Given the description of an element on the screen output the (x, y) to click on. 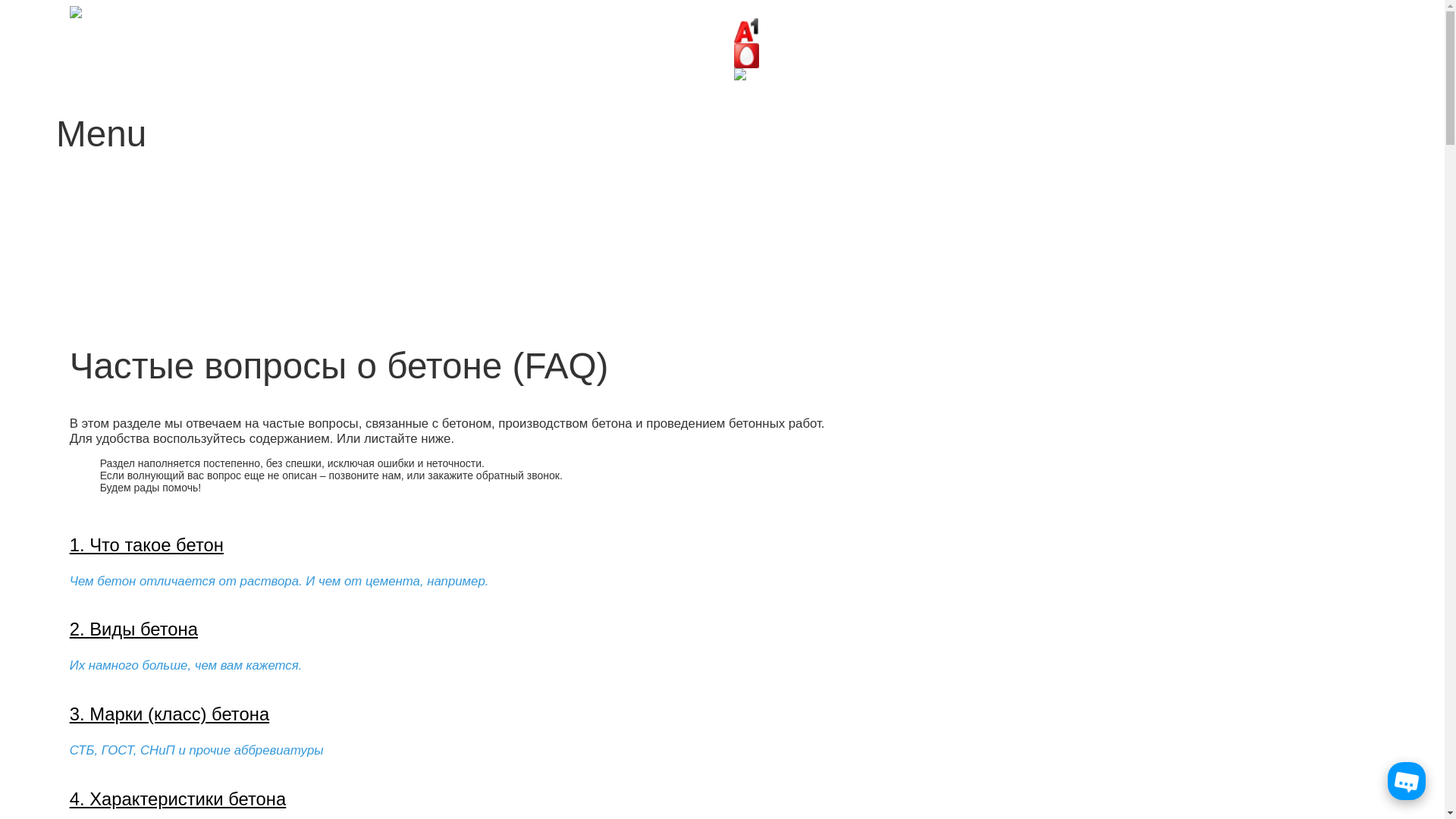
+375 (29) 63 13 666 Element type: text (794, 29)
Skip to content Element type: text (91, 190)
+375 (29) 63 73 666 Element type: text (794, 54)
